Given the description of an element on the screen output the (x, y) to click on. 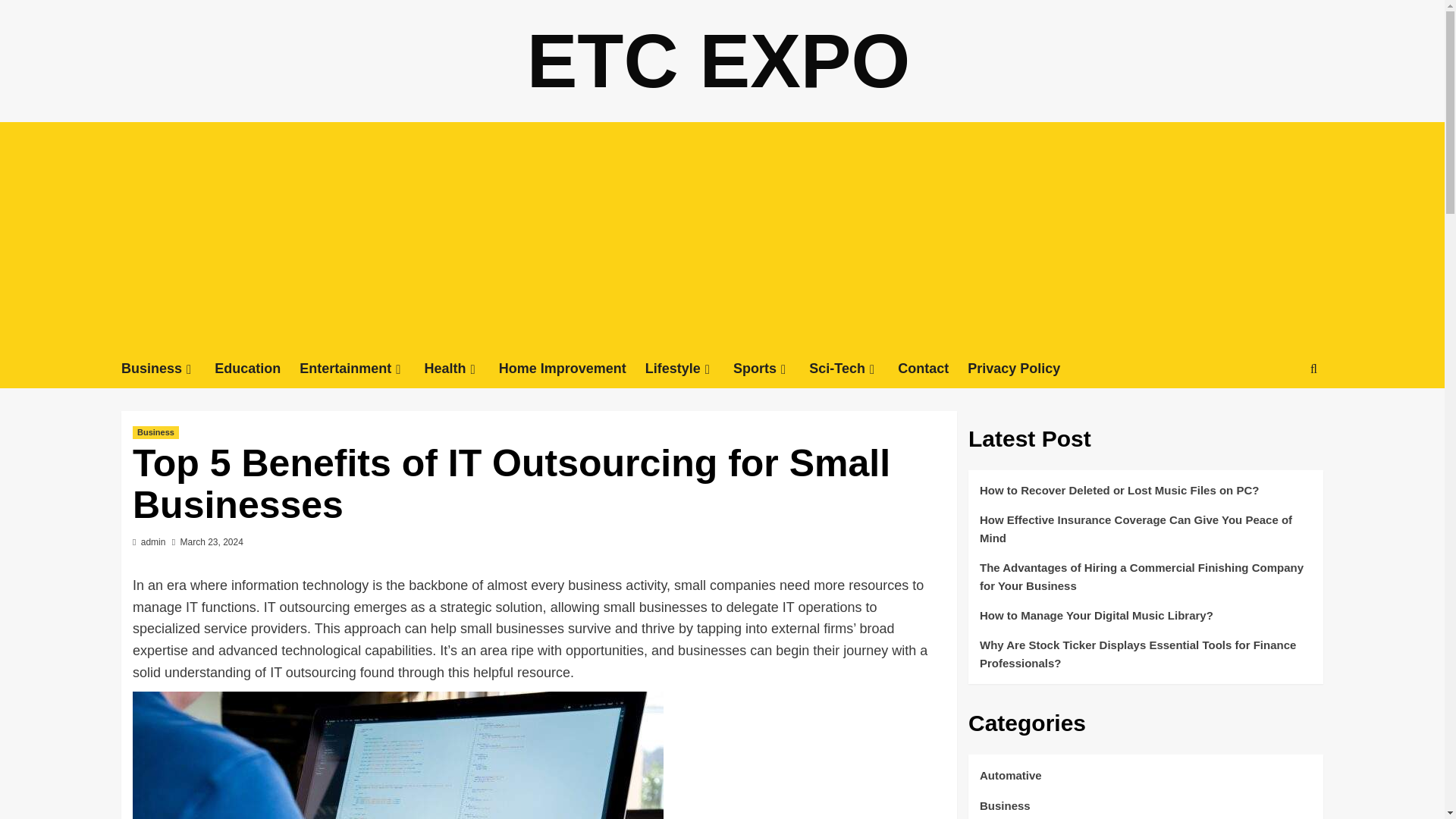
Sports (771, 368)
Entertainment (361, 368)
Lifestyle (689, 368)
ETC EXPO (719, 60)
Contact (933, 368)
Home Improvement (572, 368)
Education (256, 368)
Business (167, 368)
Sci-Tech (853, 368)
Privacy Policy (1023, 368)
Health (462, 368)
